Given the description of an element on the screen output the (x, y) to click on. 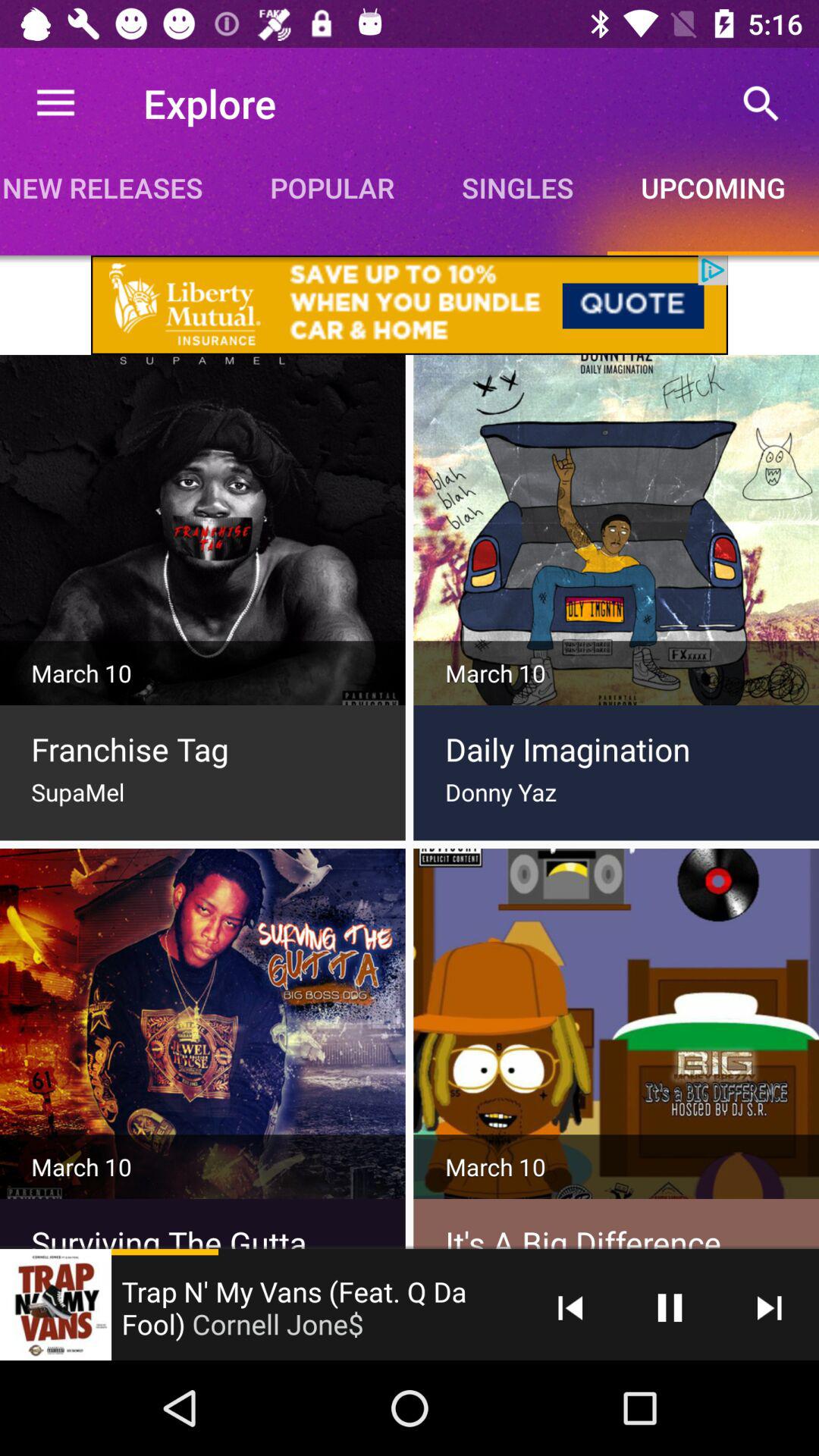
open the icon to the right of popular app (517, 187)
